Given the description of an element on the screen output the (x, y) to click on. 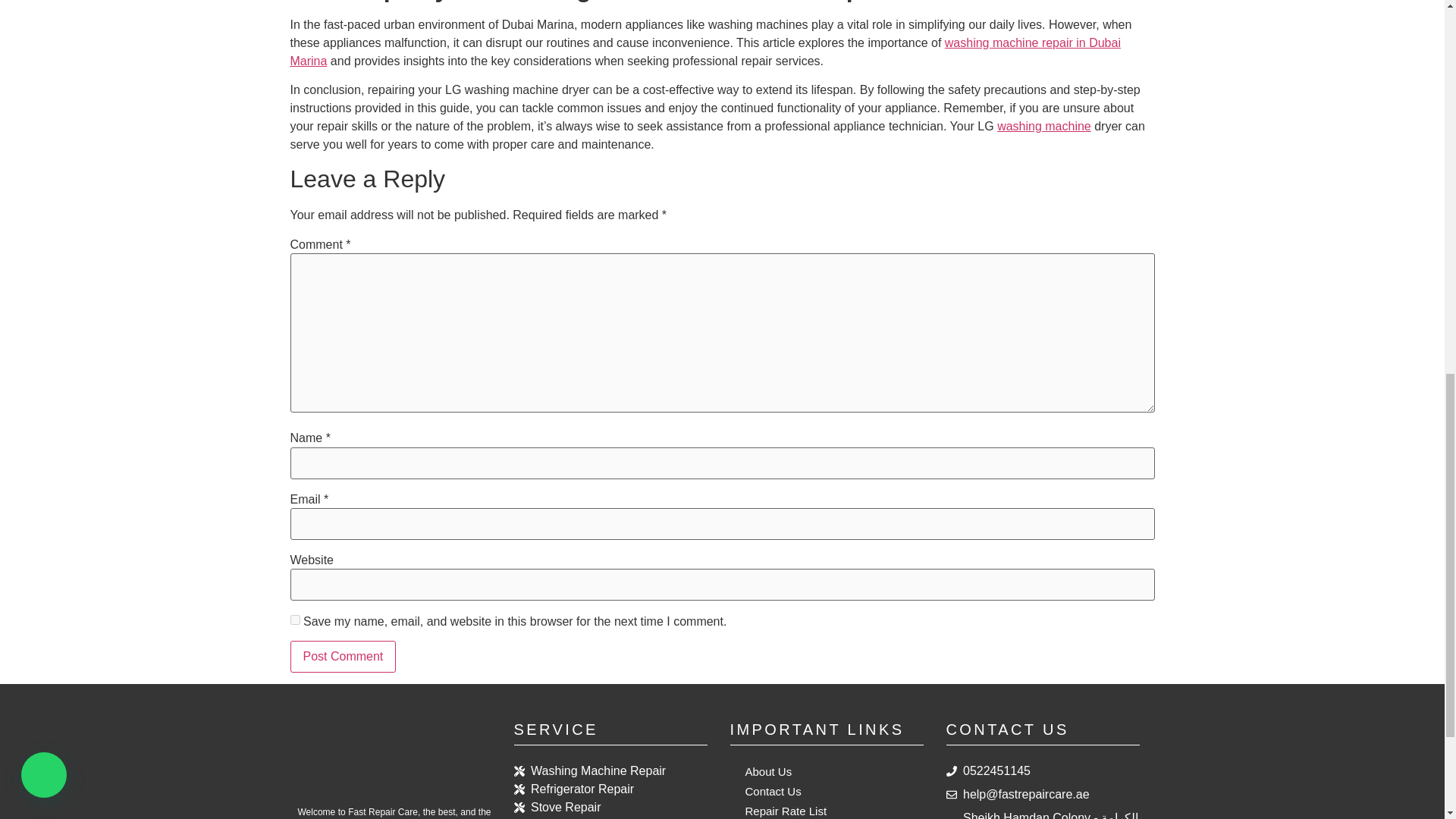
Post Comment (342, 656)
yes (294, 619)
